Given the description of an element on the screen output the (x, y) to click on. 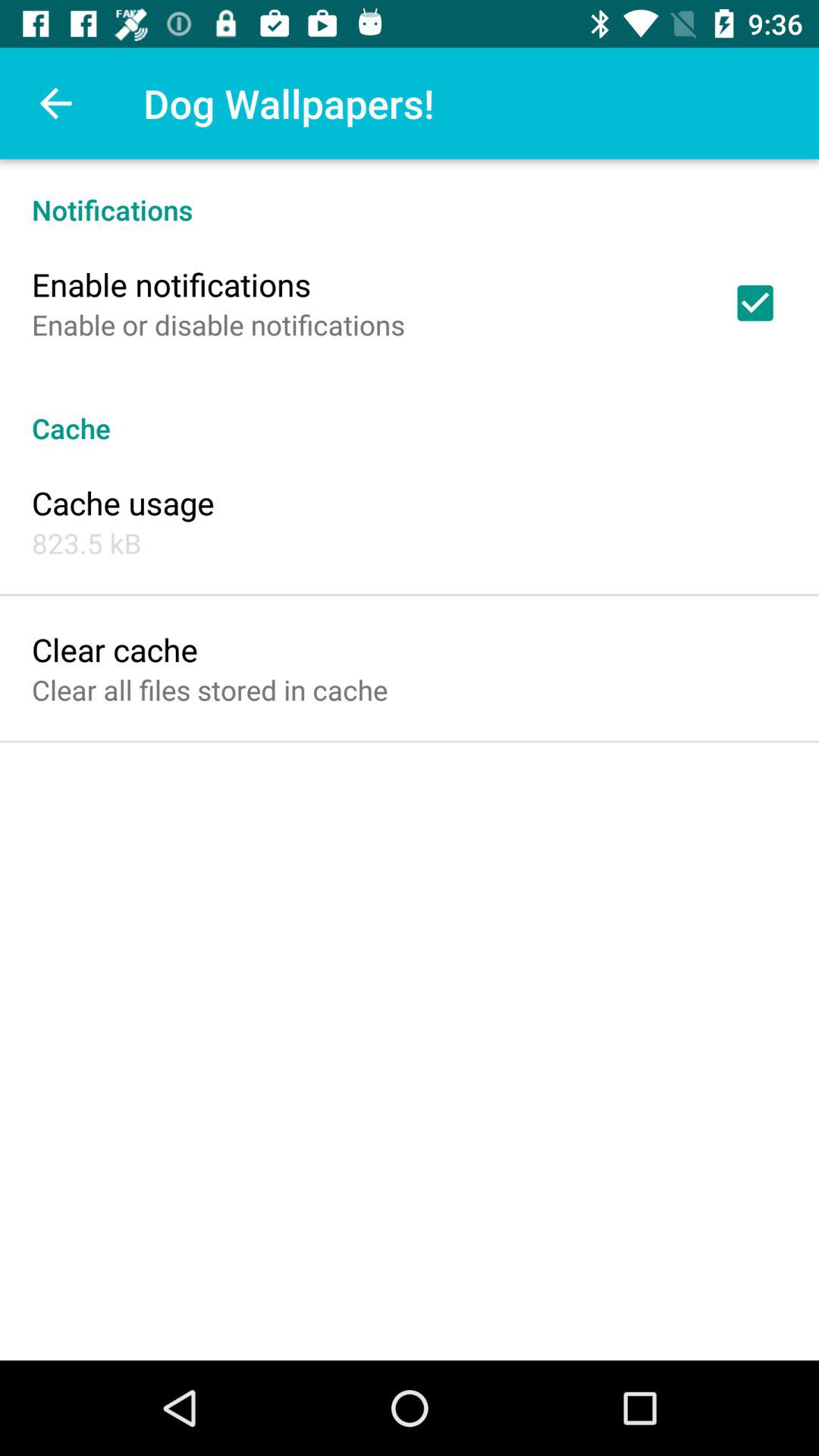
flip until enable or disable icon (217, 324)
